Given the description of an element on the screen output the (x, y) to click on. 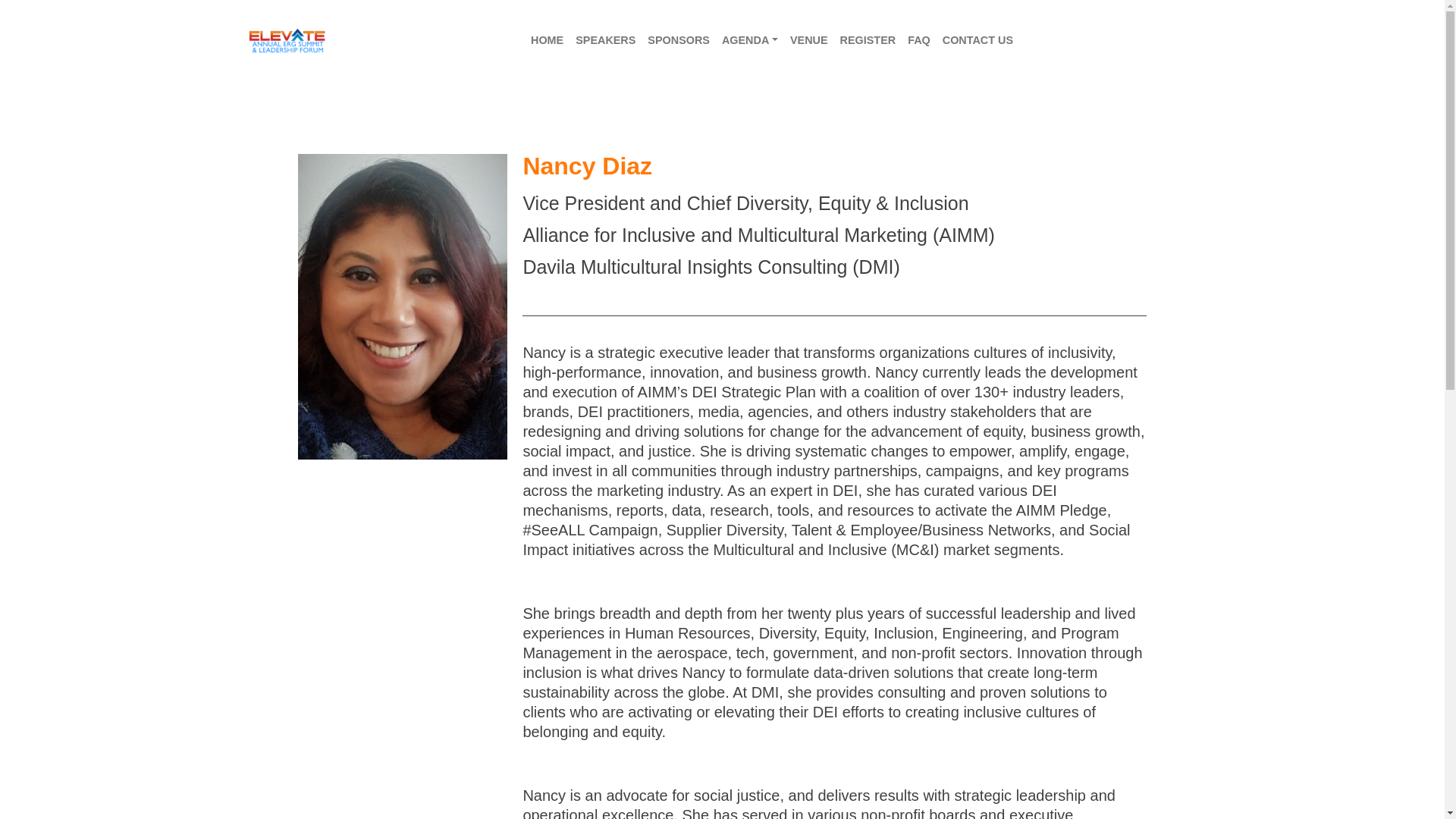
HOME (546, 40)
SPONSORS (679, 40)
SPEAKERS (605, 40)
VENUE (809, 40)
AGENDA (750, 40)
FAQ (918, 40)
CONTACT US (977, 40)
REGISTER (868, 40)
